Given the description of an element on the screen output the (x, y) to click on. 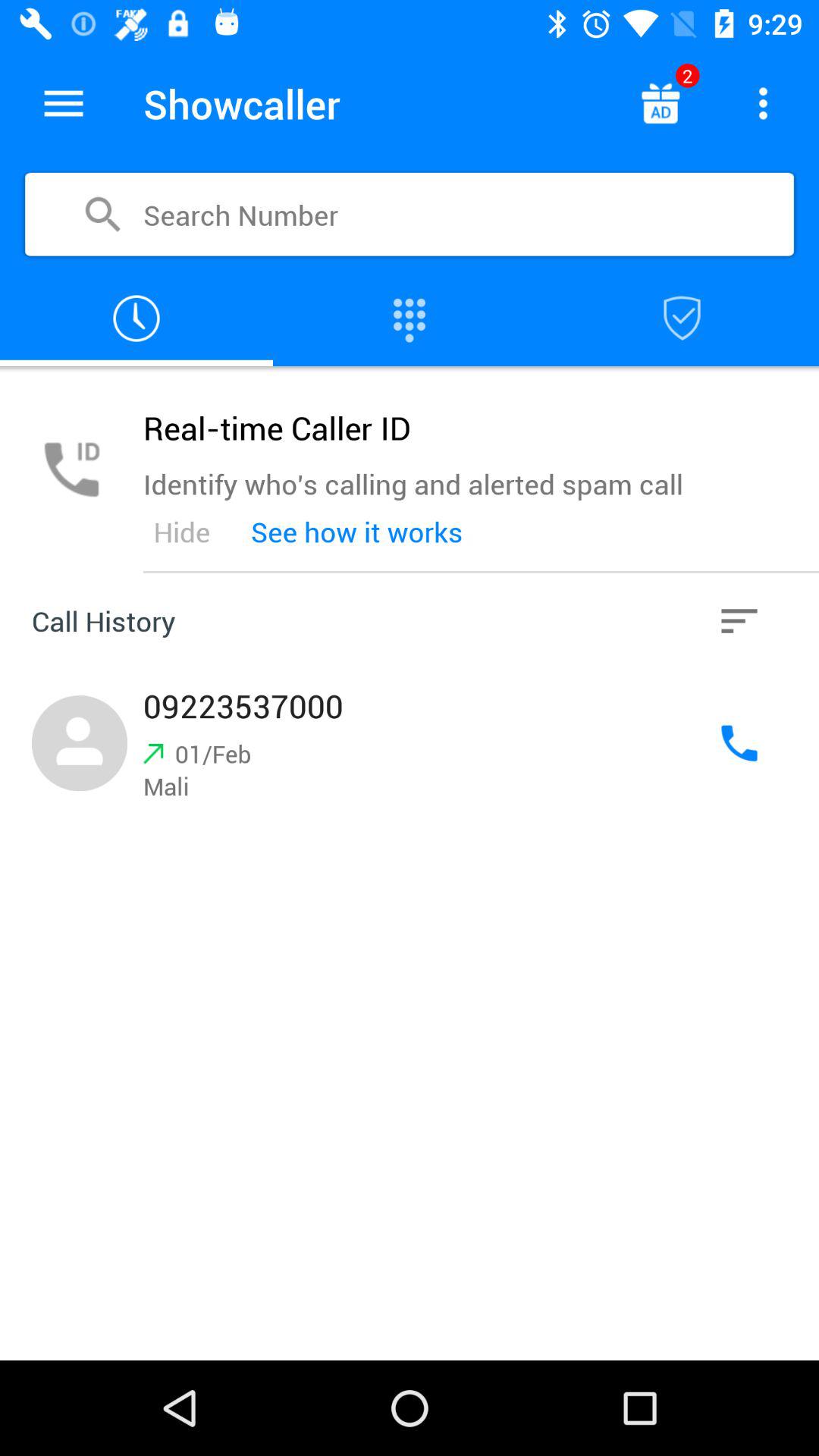
launch icon next to the see how it (181, 531)
